Given the description of an element on the screen output the (x, y) to click on. 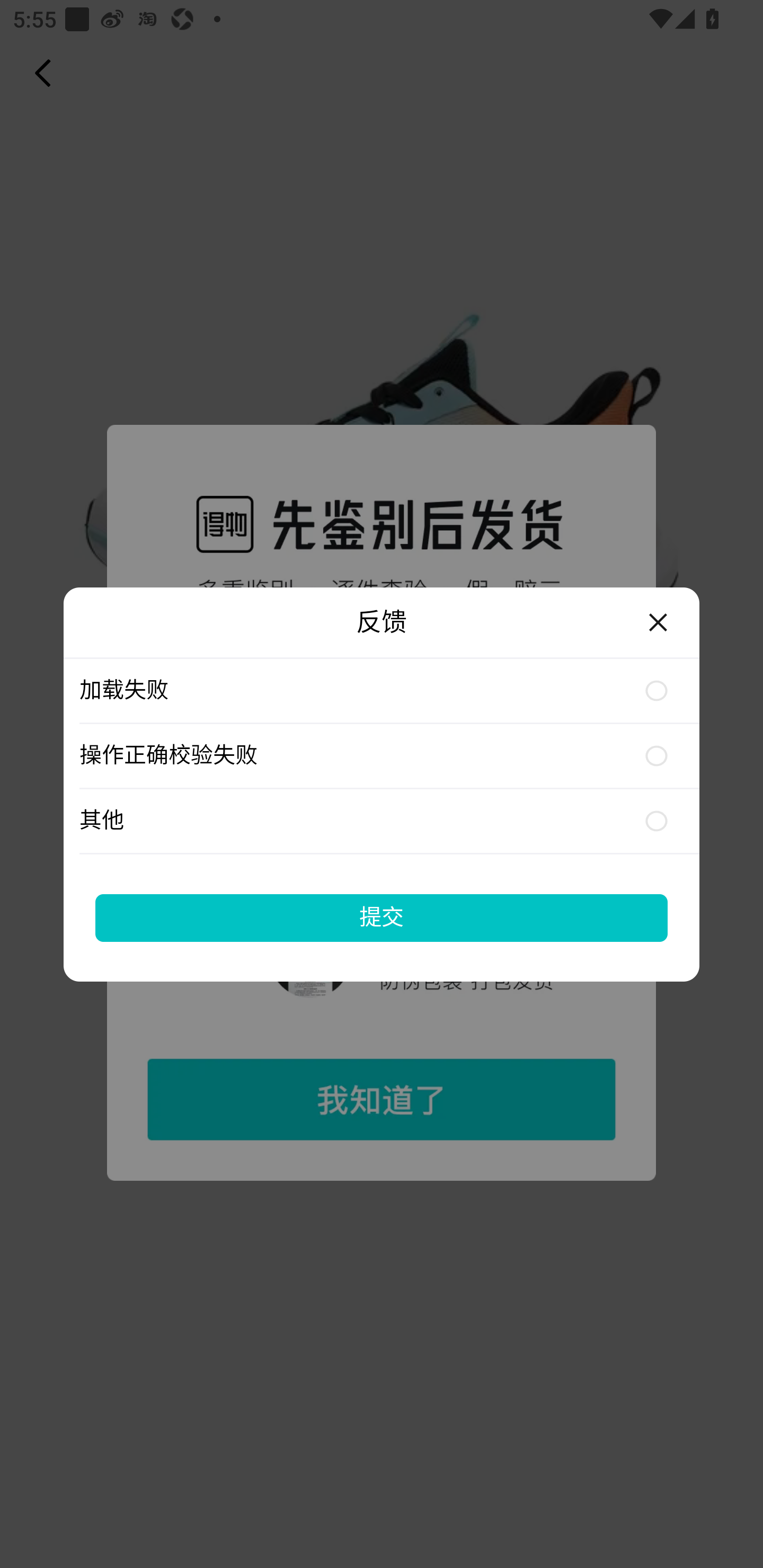
提交 (381, 917)
